Given the description of an element on the screen output the (x, y) to click on. 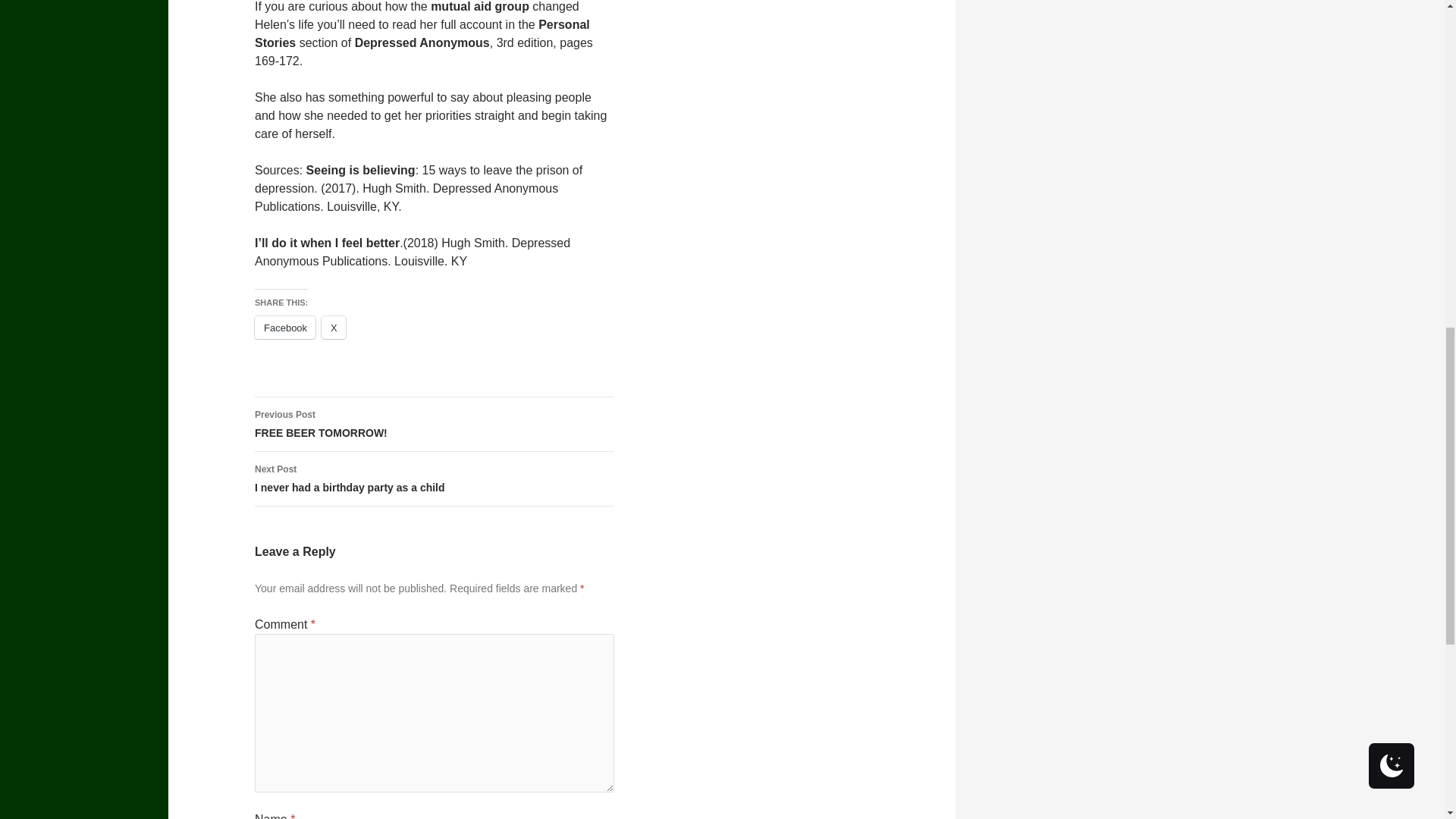
Click to share on Facebook (284, 327)
Click to share on X (333, 327)
